Given the description of an element on the screen output the (x, y) to click on. 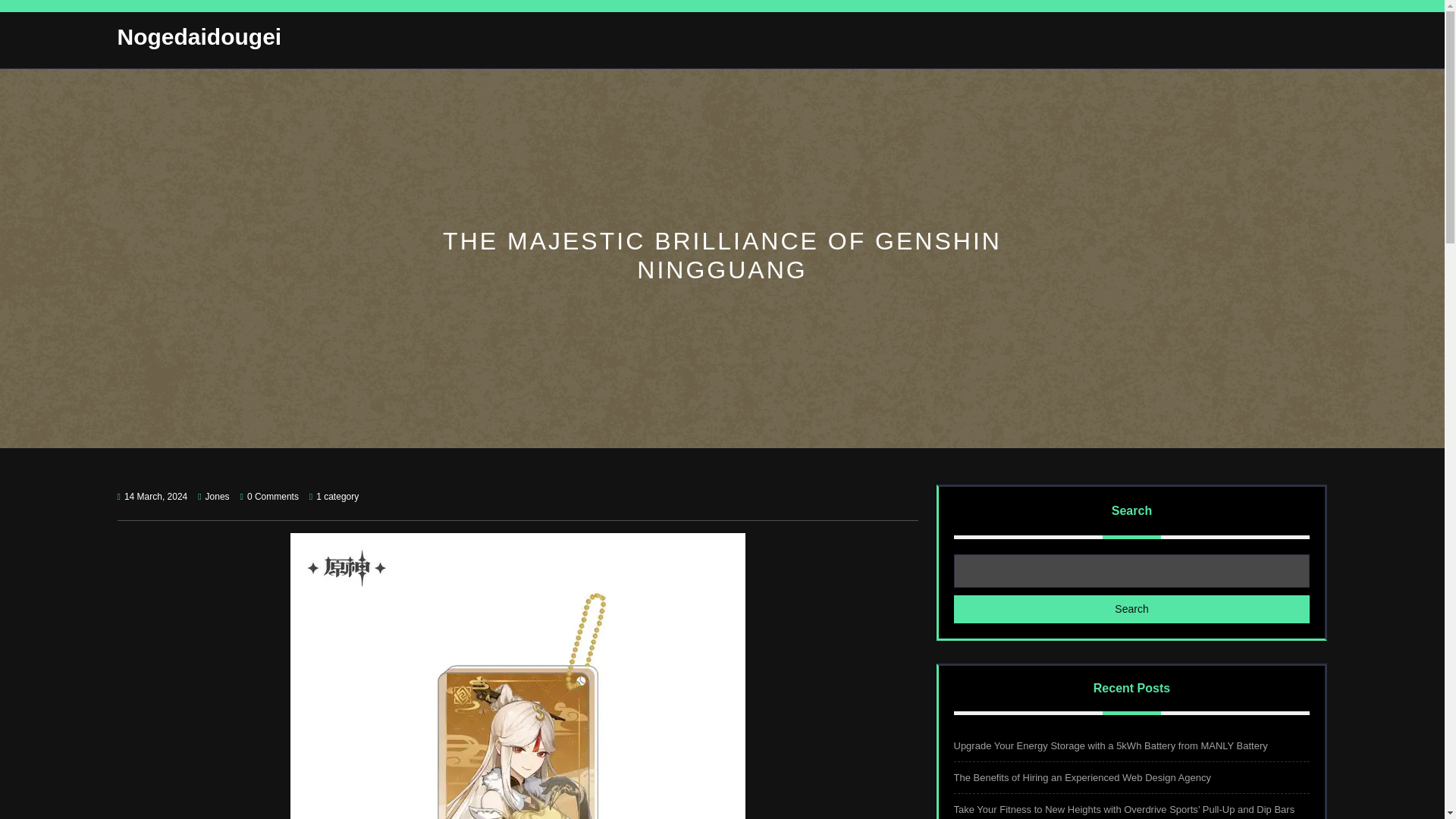
Search (1131, 609)
Nogedaidougei (198, 36)
The Benefits of Hiring an Experienced Web Design Agency (1082, 777)
